Given the description of an element on the screen output the (x, y) to click on. 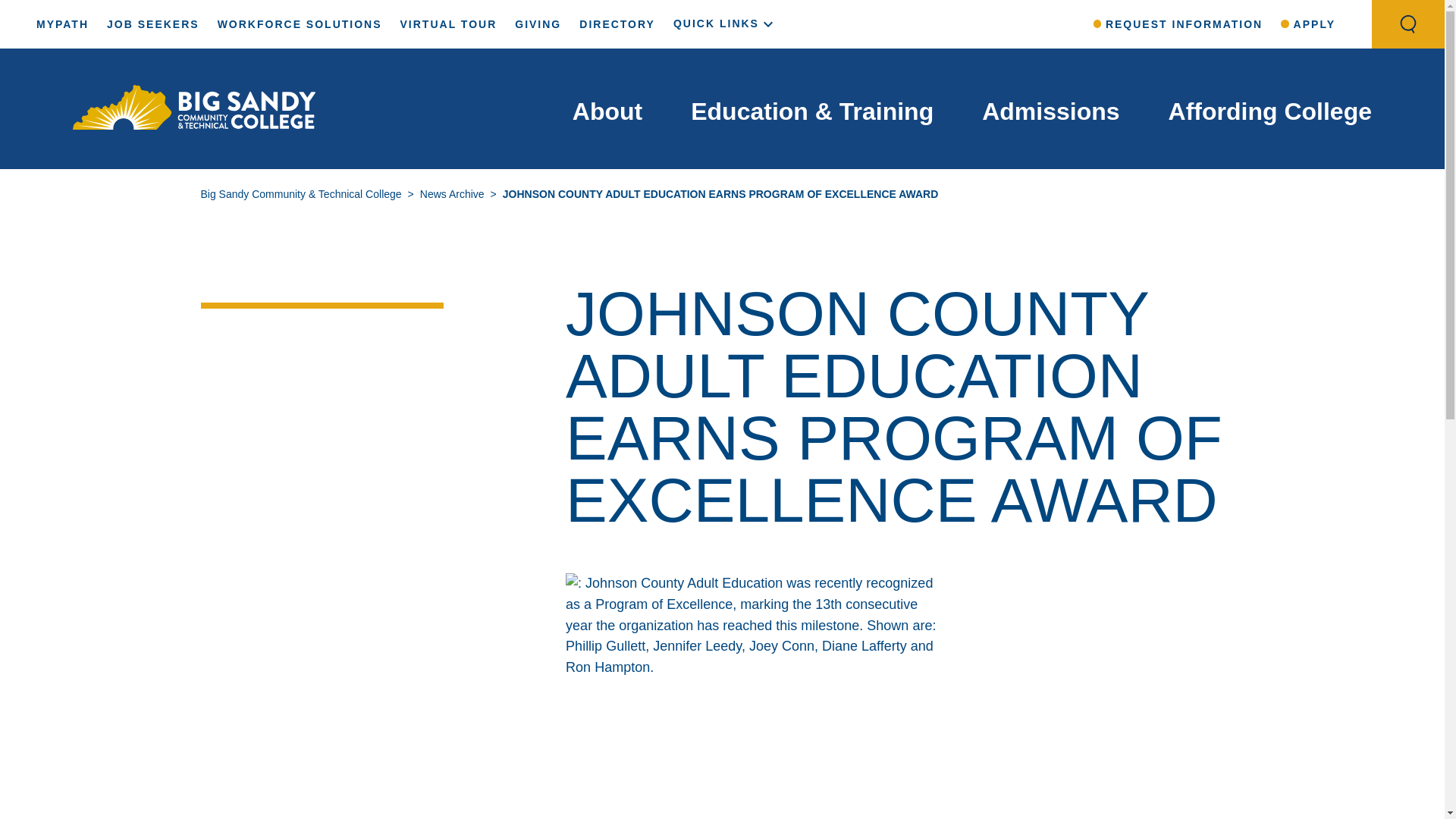
REQUEST INFORMATION (1178, 24)
GIVING (537, 23)
JOB SEEKERS (152, 23)
VIRTUAL TOUR (448, 23)
QUICK LINKS (724, 22)
DIRECTORY (617, 23)
WORKFORCE SOLUTIONS (298, 23)
MYPATH (62, 23)
APPLY (1308, 24)
